Given the description of an element on the screen output the (x, y) to click on. 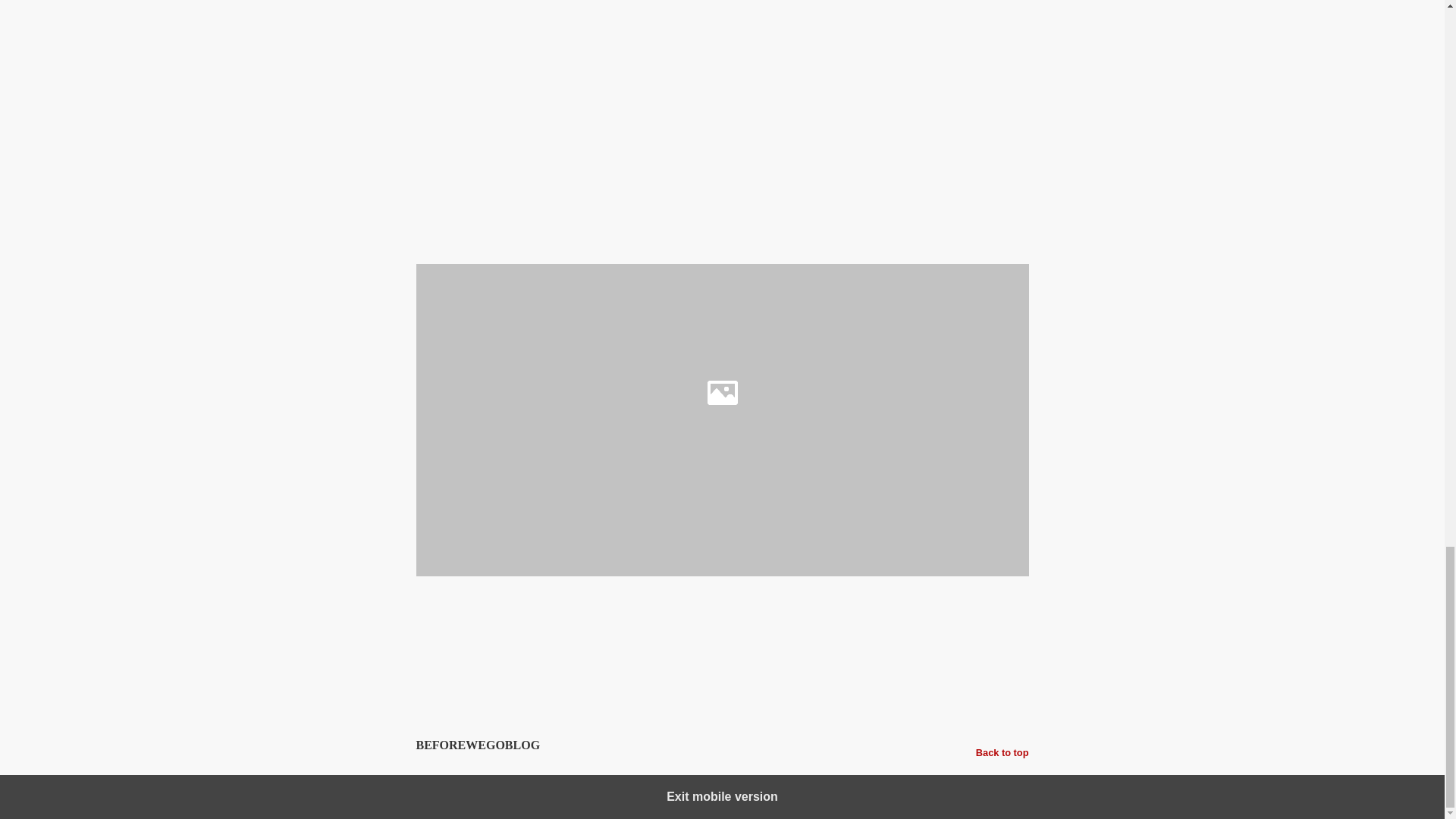
Books (541, 606)
reviews (680, 606)
indie author (628, 606)
spfbo (717, 606)
fantasy (578, 606)
Back to top (1002, 752)
Leave a Comment (721, 686)
